Given the description of an element on the screen output the (x, y) to click on. 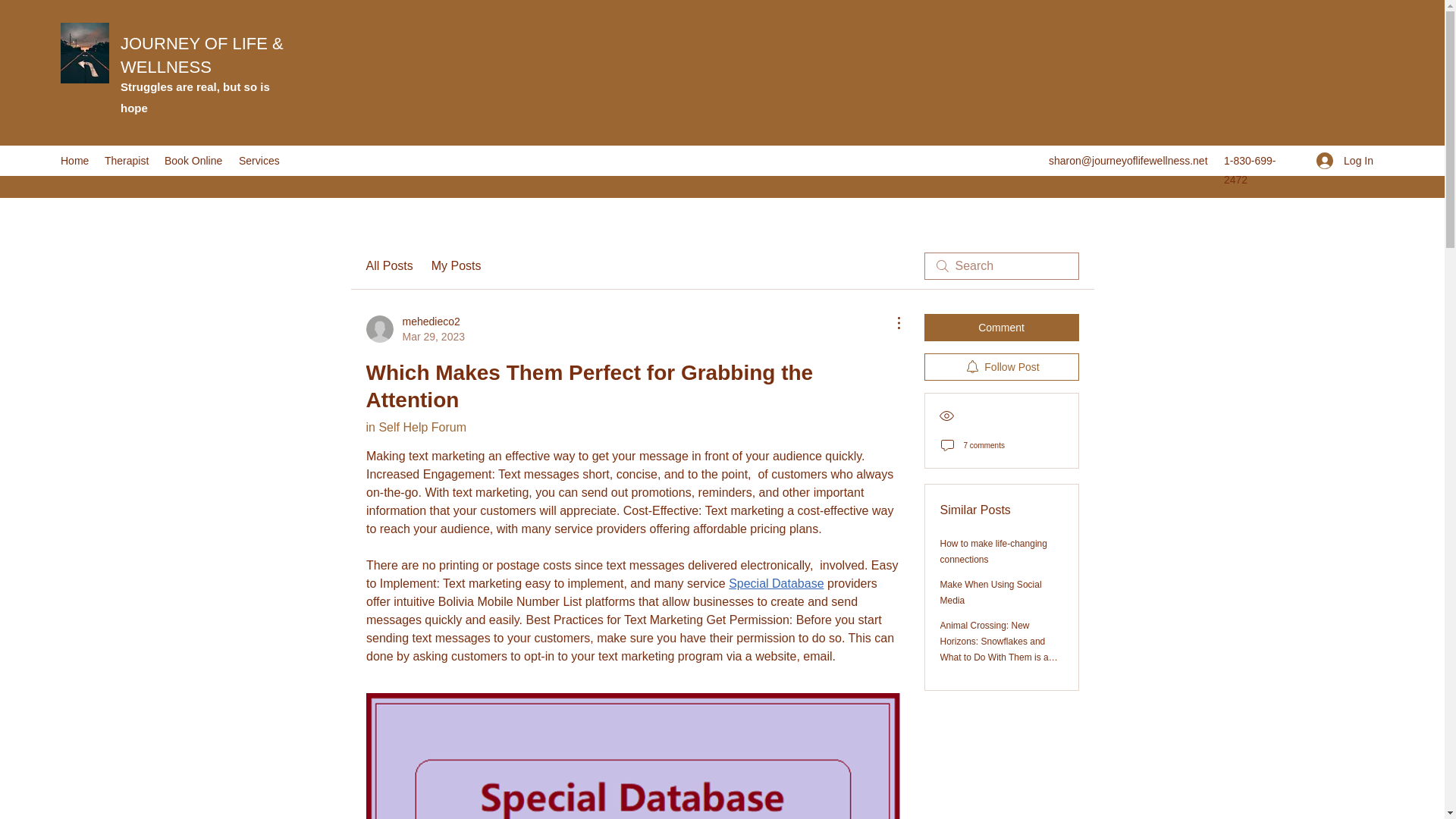
Therapist (127, 160)
Special Database (414, 328)
My Posts (776, 583)
in Self Help Forum (455, 266)
Log In (415, 427)
Home (1345, 161)
Book Online (74, 160)
All Posts (194, 160)
Services (388, 266)
